Given the description of an element on the screen output the (x, y) to click on. 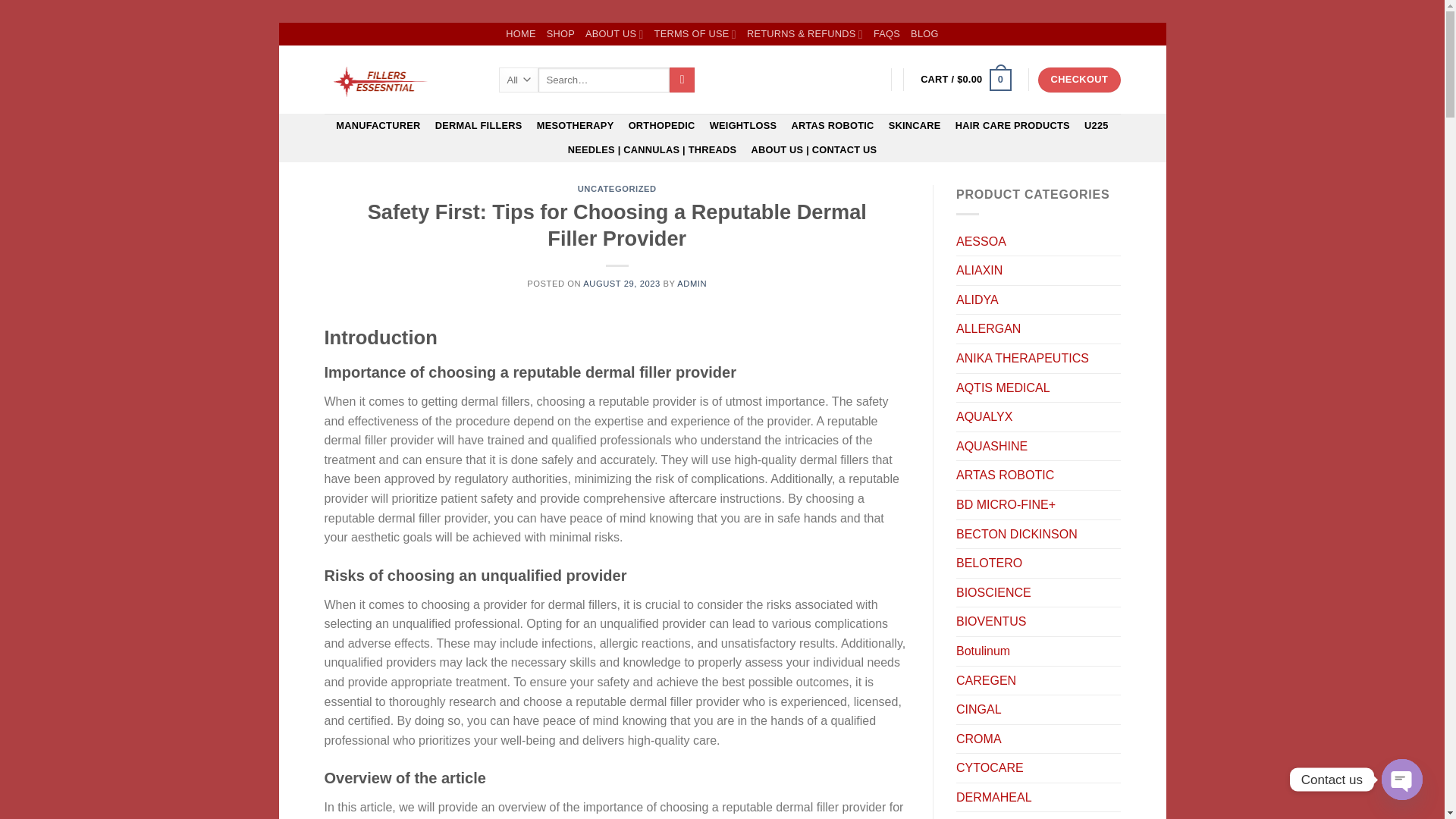
FILLER ESSENTIALS - Cosmetic Filler Essential (400, 79)
SHOP (561, 33)
WEIGHTLOSS (742, 125)
HOME (520, 33)
DERMAL FILLERS (478, 125)
MESOTHERAPY (575, 125)
TERMS OF USE (694, 33)
ARTAS ROBOTIC (832, 125)
ADMIN (691, 283)
